Given the description of an element on the screen output the (x, y) to click on. 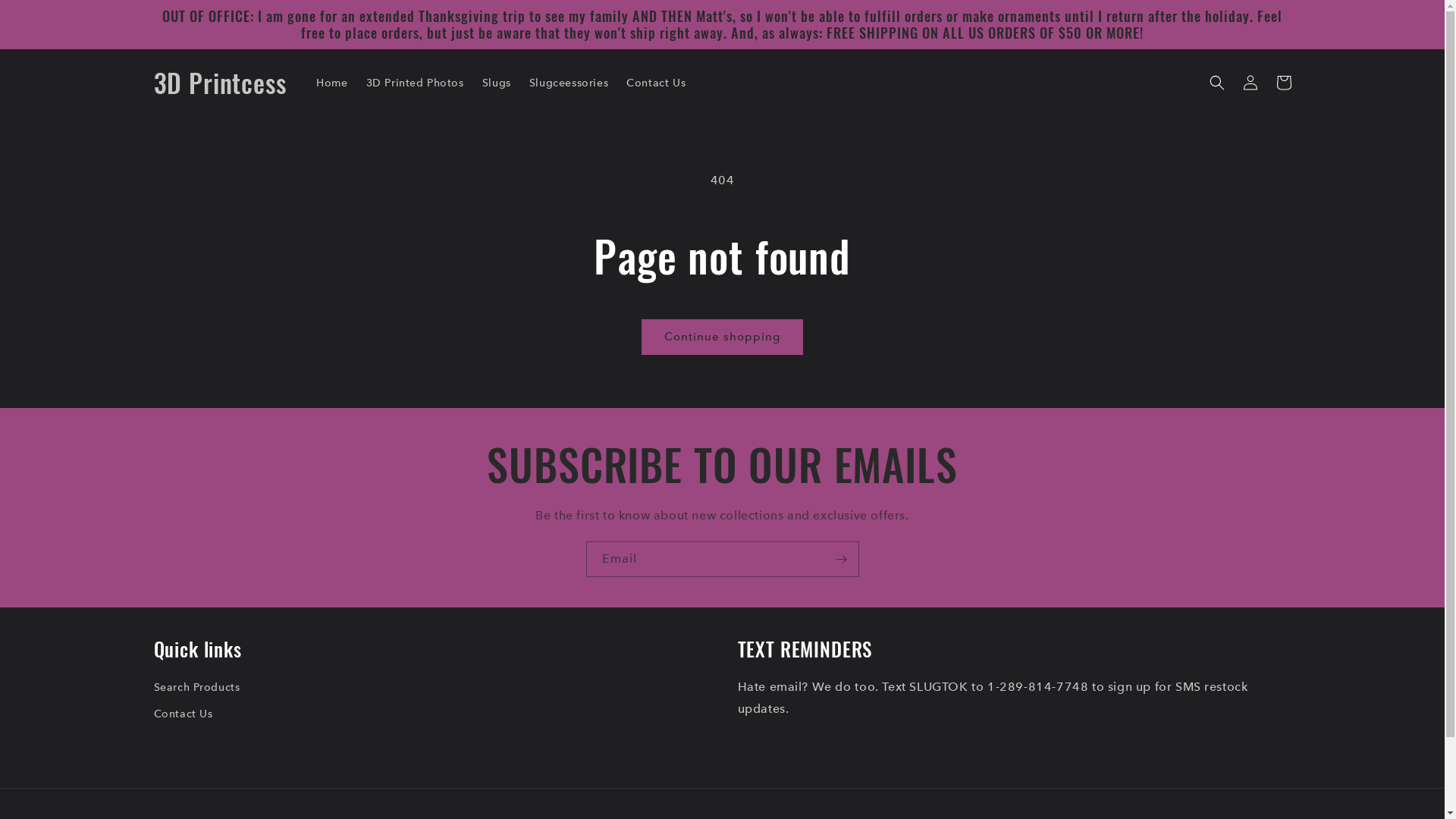
Search Products Element type: text (196, 688)
Continue shopping Element type: text (722, 336)
Home Element type: text (331, 82)
3D Printed Photos Element type: text (414, 82)
3D Printcess Element type: text (219, 82)
Slugs Element type: text (496, 82)
Log in Element type: text (1249, 82)
Contact Us Element type: text (655, 82)
Cart Element type: text (1282, 82)
Slugceessories Element type: text (568, 82)
Contact Us Element type: text (182, 713)
